Given the description of an element on the screen output the (x, y) to click on. 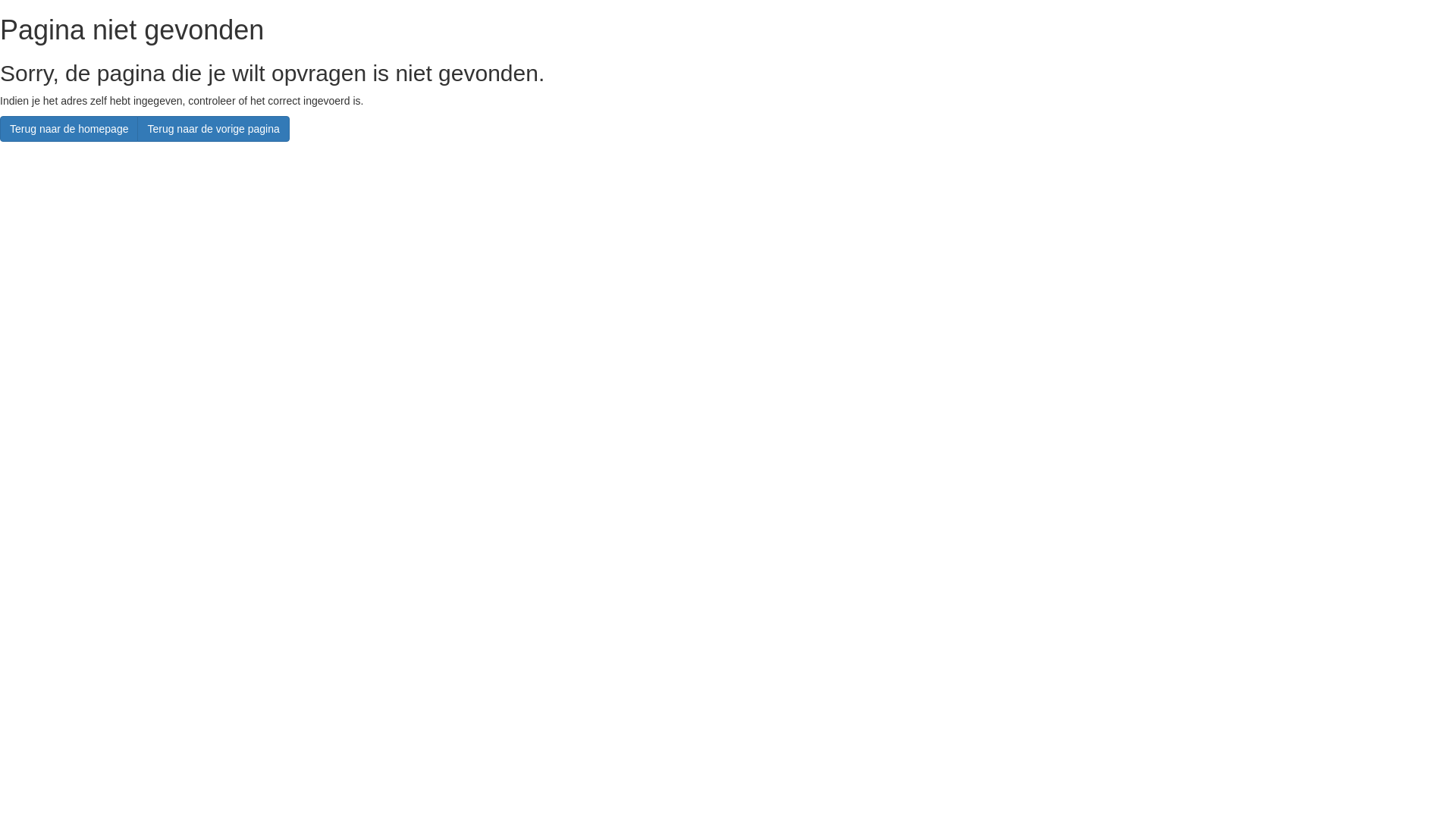
Terug naar de homepage Element type: text (69, 128)
Terug naar de vorige pagina Element type: text (212, 128)
